Given the description of an element on the screen output the (x, y) to click on. 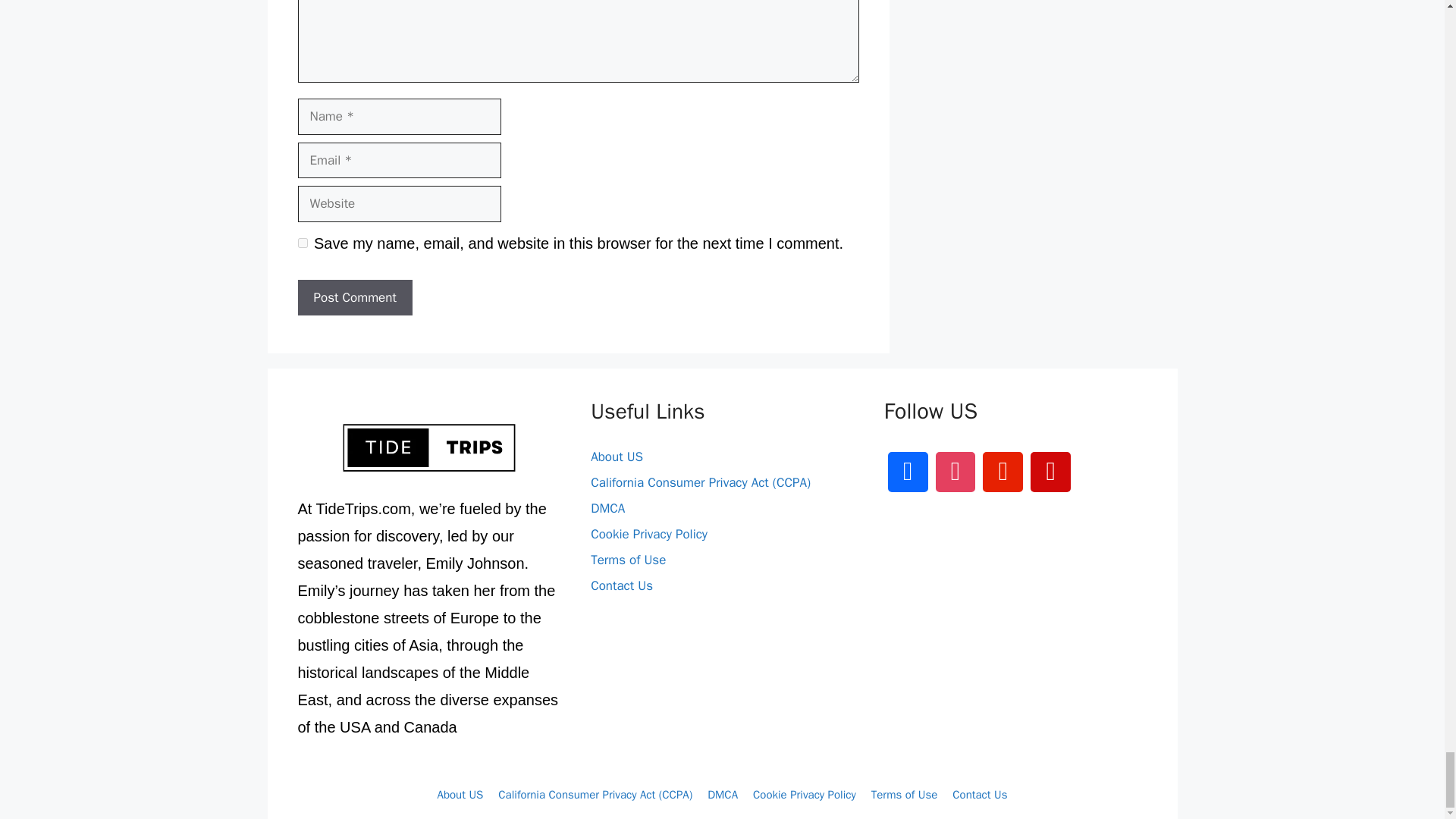
yes (302, 243)
Post Comment (354, 298)
